Given the description of an element on the screen output the (x, y) to click on. 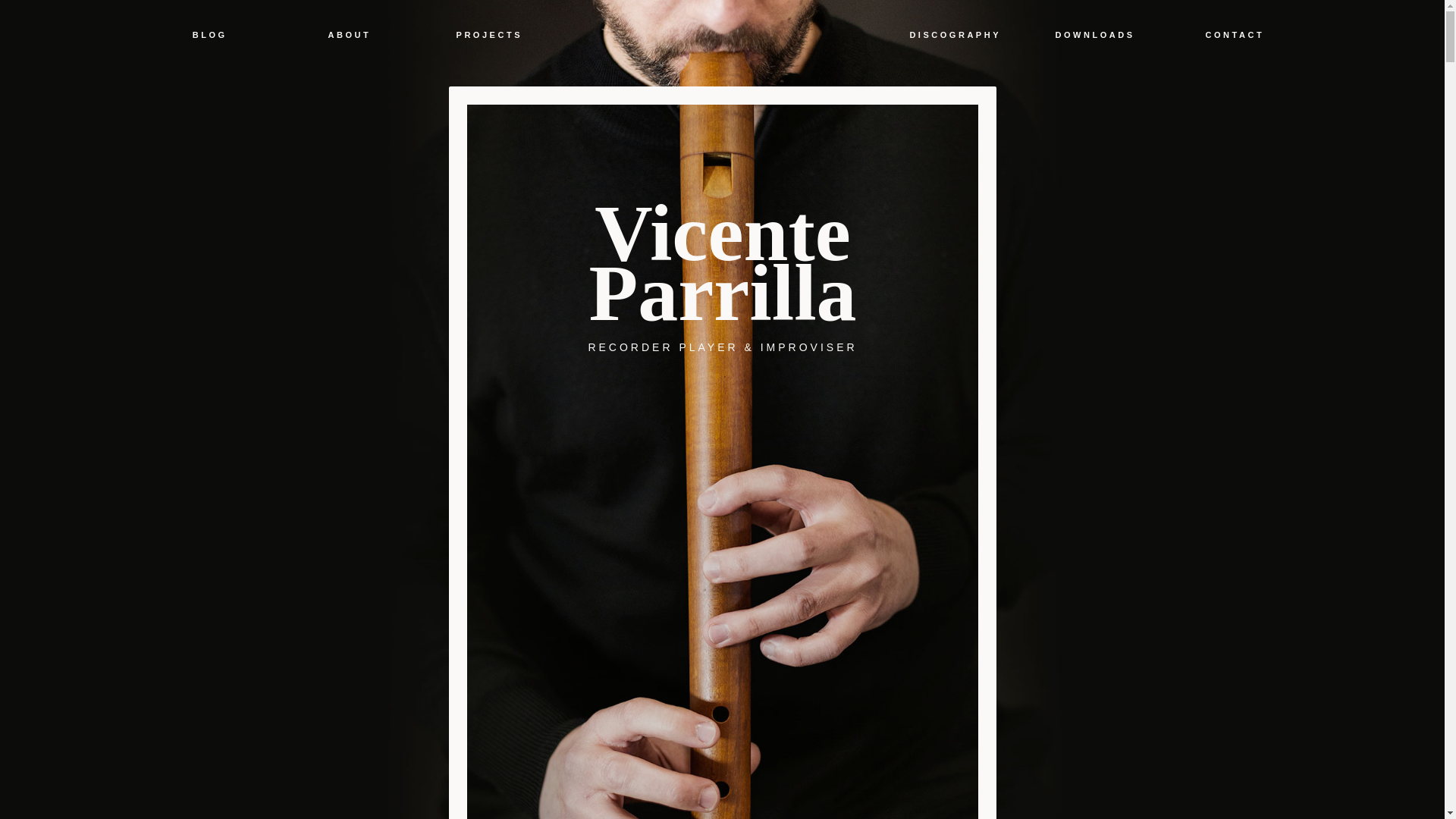
ABOUT (349, 35)
DOWNLOADS (1094, 35)
PROJECTS (489, 35)
DISCOGRAPHY (955, 35)
CONTACT (1234, 35)
BLOG (209, 35)
